Given the description of an element on the screen output the (x, y) to click on. 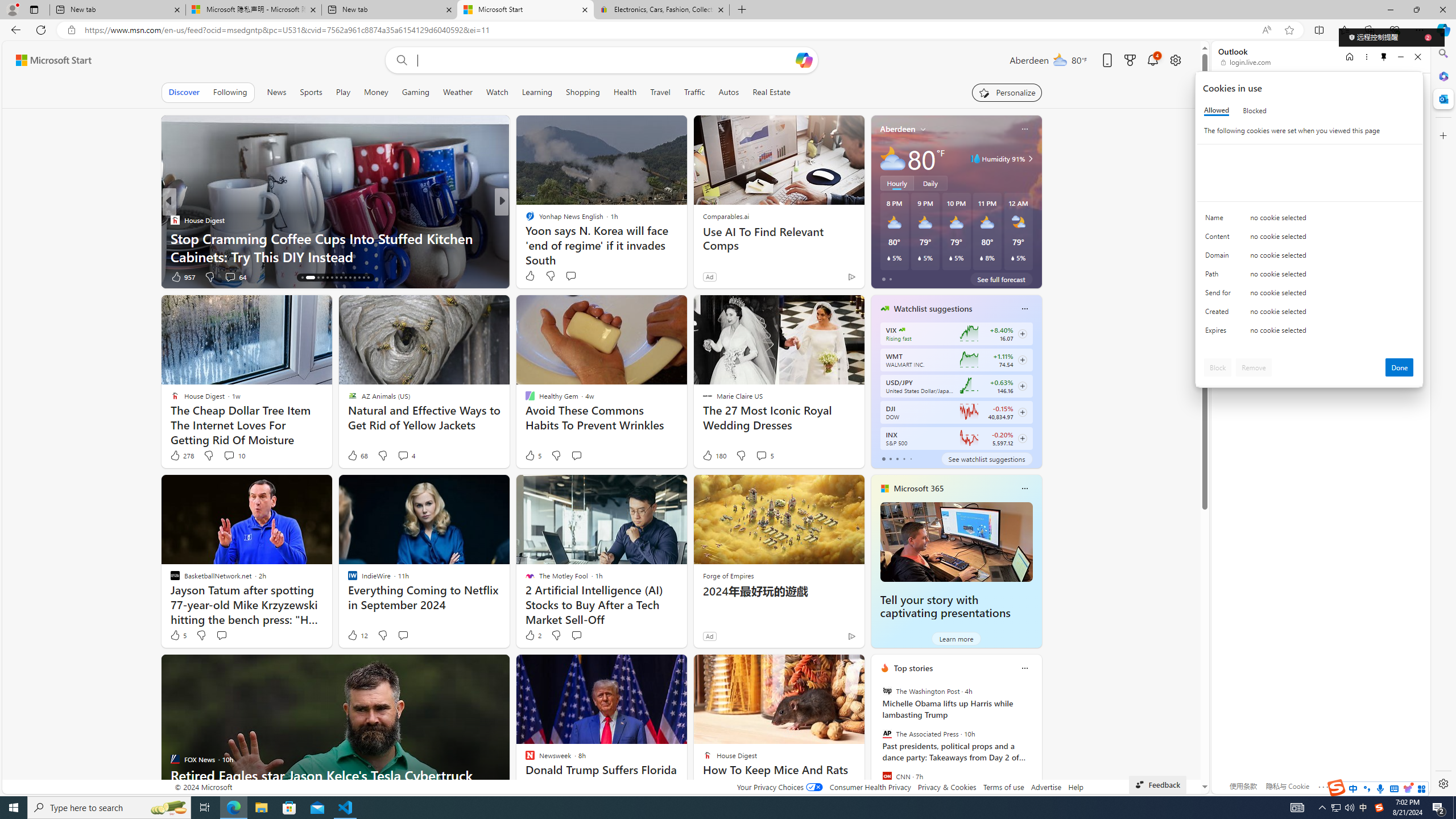
Block (1217, 367)
View comments 13 Comment (576, 276)
View comments 3 Comment (583, 276)
Kyiv Independent (524, 219)
